Given the description of an element on the screen output the (x, y) to click on. 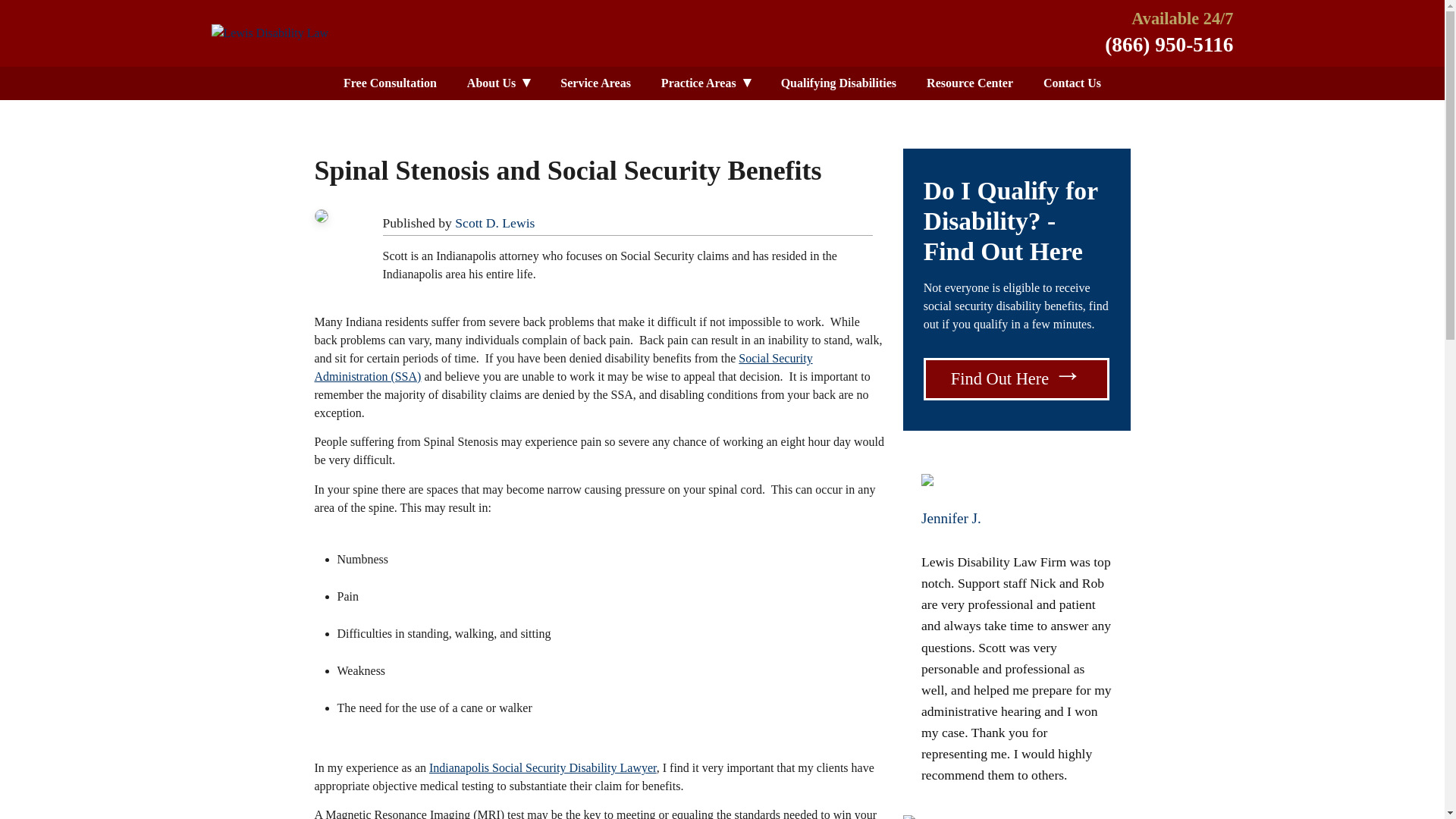
Practice Areas (705, 83)
Resource Center (969, 83)
Service Areas (595, 83)
Jennifer J. (949, 518)
Contact Us (1071, 83)
Indianapolis Social Security Disability Lawyer (542, 767)
About Us (497, 83)
Qualifying Disabilities (838, 83)
Scott D. Lewis (494, 222)
Free Consultation (390, 83)
